Given the description of an element on the screen output the (x, y) to click on. 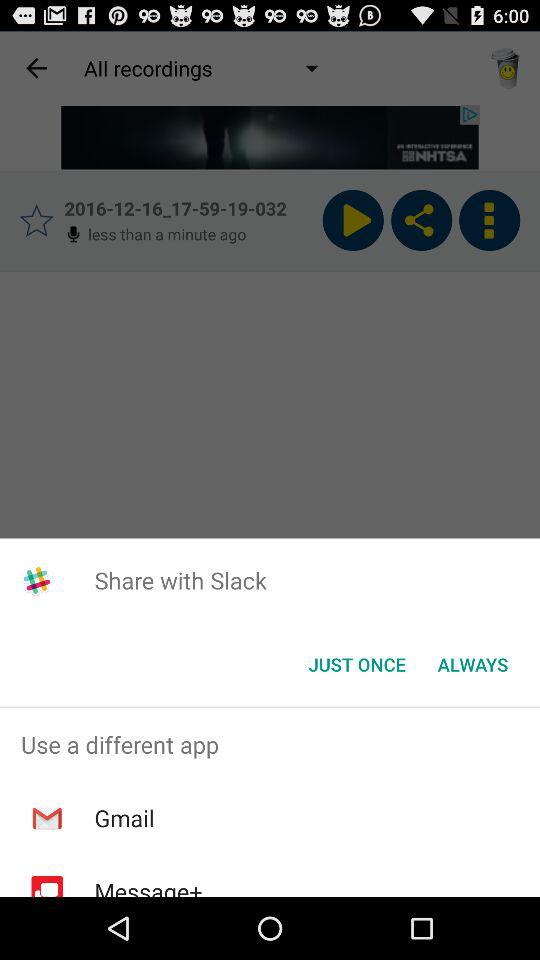
flip to the just once (356, 664)
